Given the description of an element on the screen output the (x, y) to click on. 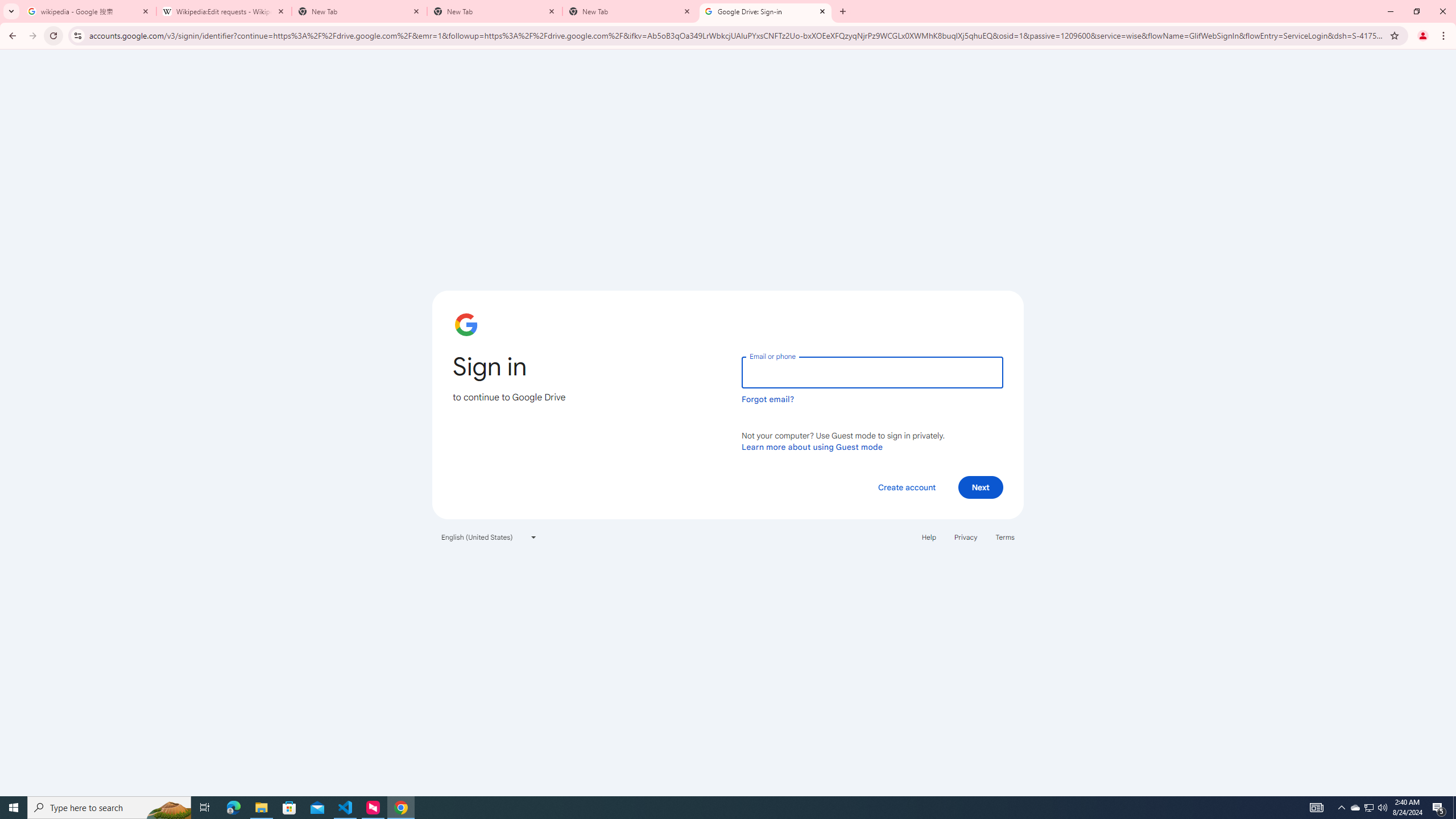
Address and search bar (735, 35)
Restore (1416, 11)
You (1422, 35)
Next (980, 486)
Google Drive: Sign-in (765, 11)
Privacy (965, 536)
Forgot email? (767, 398)
Forward (32, 35)
Bookmark this tab (1393, 35)
Help (928, 536)
New Tab (842, 11)
